Given the description of an element on the screen output the (x, y) to click on. 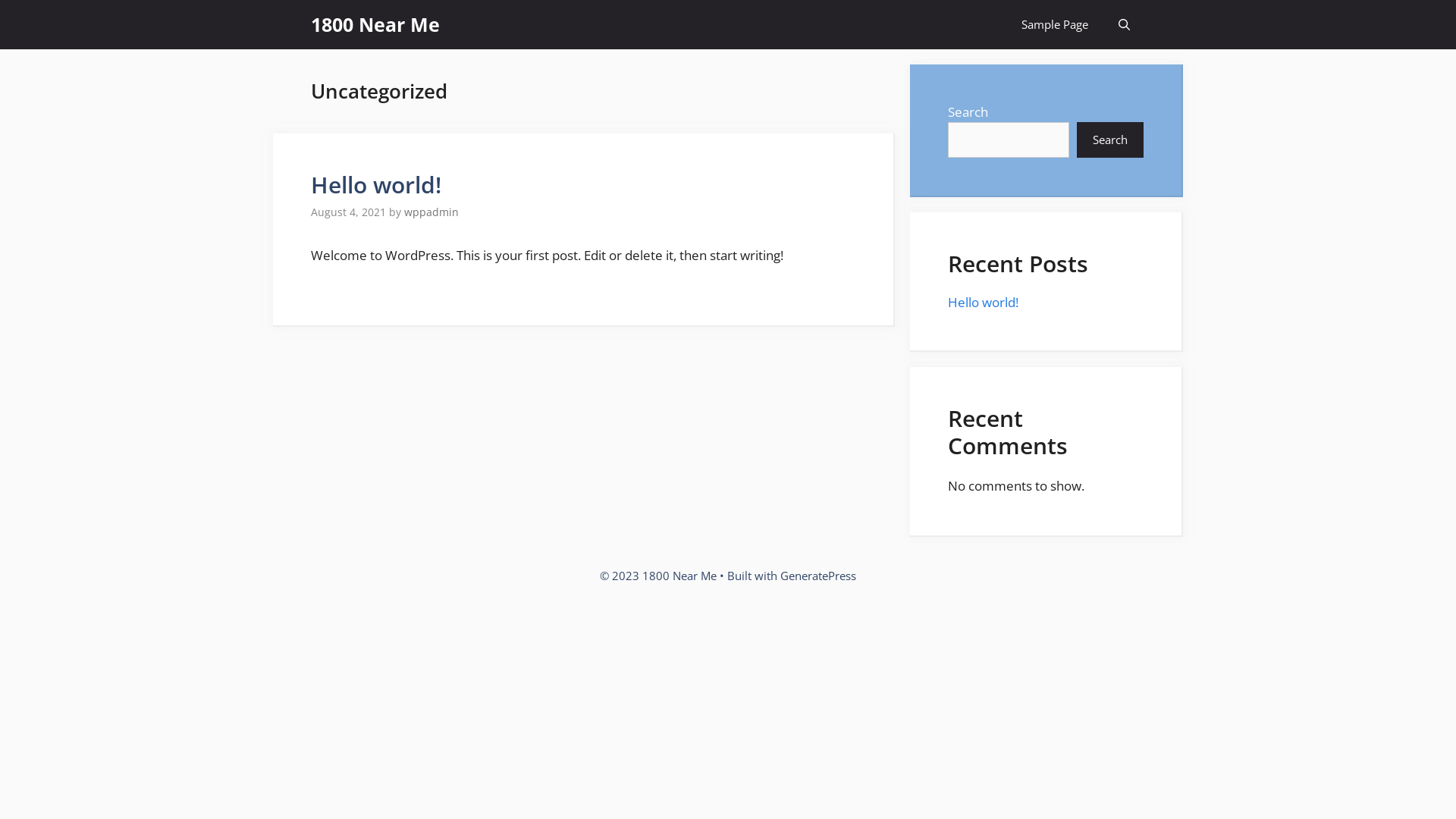
1800 Near Me Element type: text (374, 24)
Sample Page Element type: text (1054, 24)
Hello world! Element type: text (375, 184)
wppadmin Element type: text (431, 211)
Hello world! Element type: text (982, 301)
Search Element type: text (1109, 139)
GeneratePress Element type: text (818, 575)
